Given the description of an element on the screen output the (x, y) to click on. 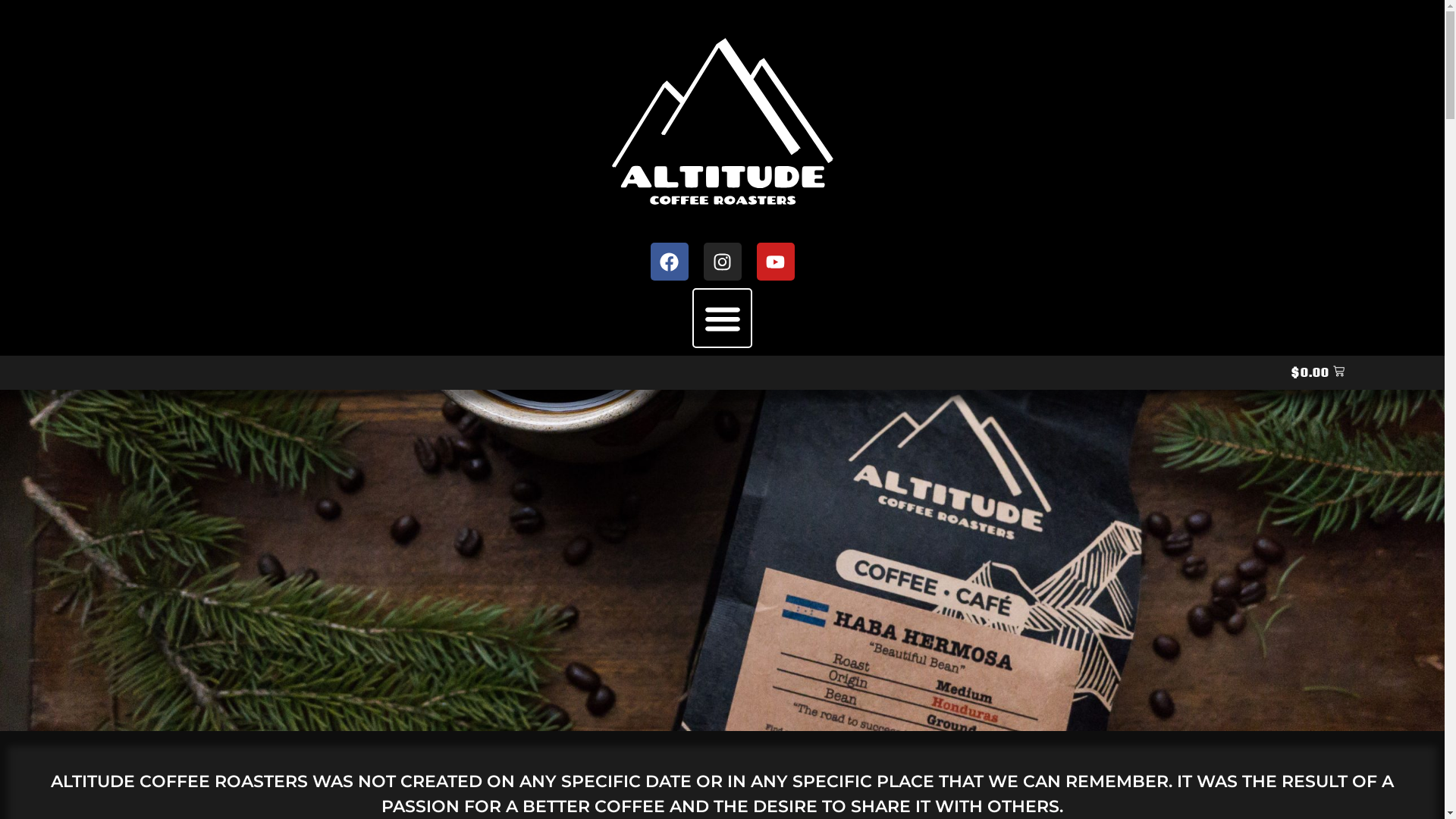
$0.00 Element type: text (1317, 372)
